Given the description of an element on the screen output the (x, y) to click on. 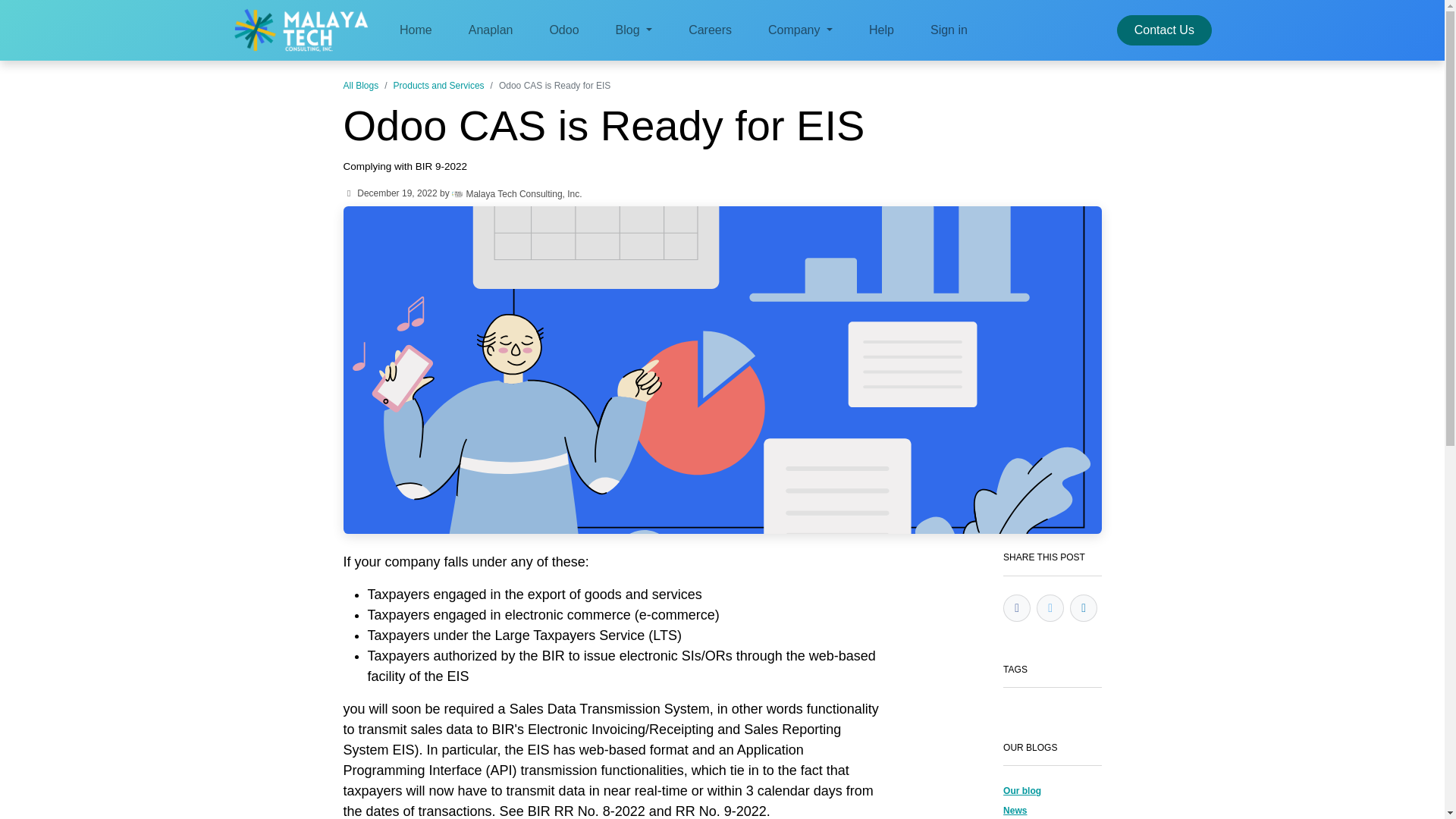
Share on LinkedIn (1083, 607)
Sign in (948, 30)
Company (799, 30)
Malaya Tech Consulting (300, 30)
Careers (709, 30)
News (1014, 810)
Home (415, 30)
Contact Us (1163, 30)
Share on Facebook (1016, 607)
Our blog (1022, 790)
